Given the description of an element on the screen output the (x, y) to click on. 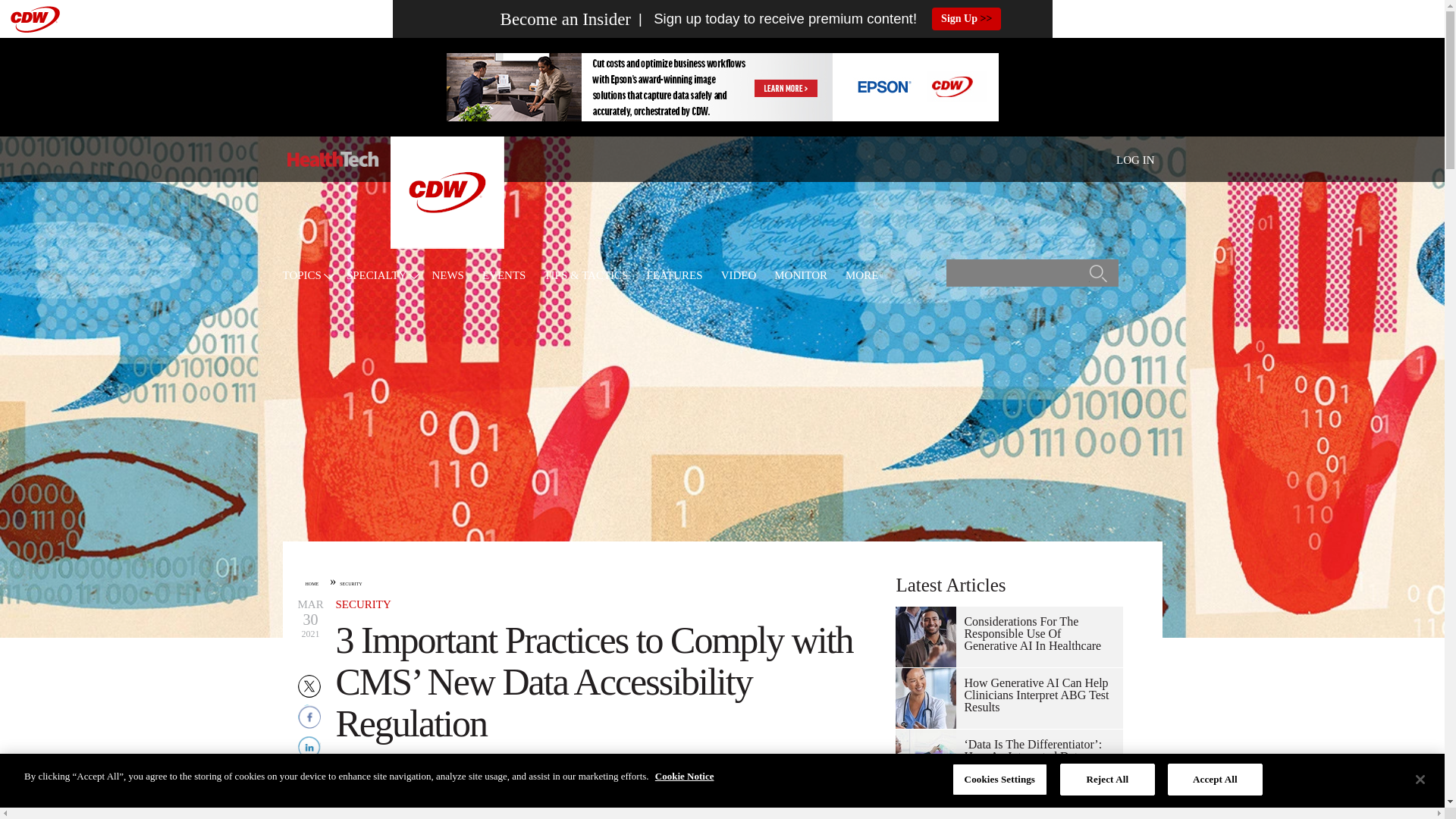
CDW (446, 244)
Sign Up (966, 18)
LOG IN (1135, 159)
User menu (1135, 160)
advertisement (721, 87)
Become an Insider (537, 18)
Sign up today to receive premium content! (773, 19)
Home (332, 158)
